Given the description of an element on the screen output the (x, y) to click on. 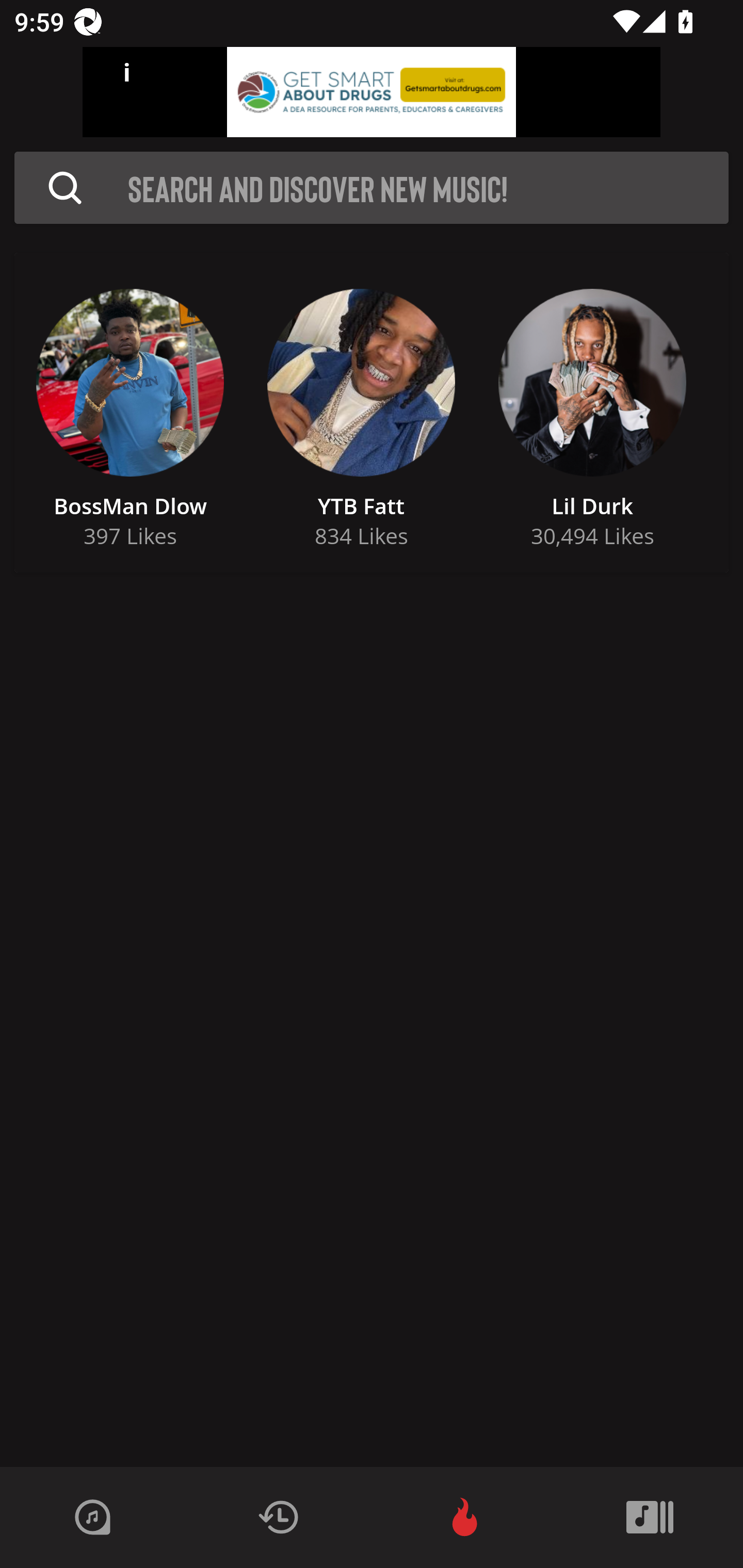
SEARCH AND DISCOVER NEW MUSIC! (377, 188)
Description (64, 188)
Description BossMan Dlow 397 Likes (129, 413)
Description YTB Fatt 834 Likes (360, 413)
Description Lil Durk 30,494 Likes (591, 413)
